Given the description of an element on the screen output the (x, y) to click on. 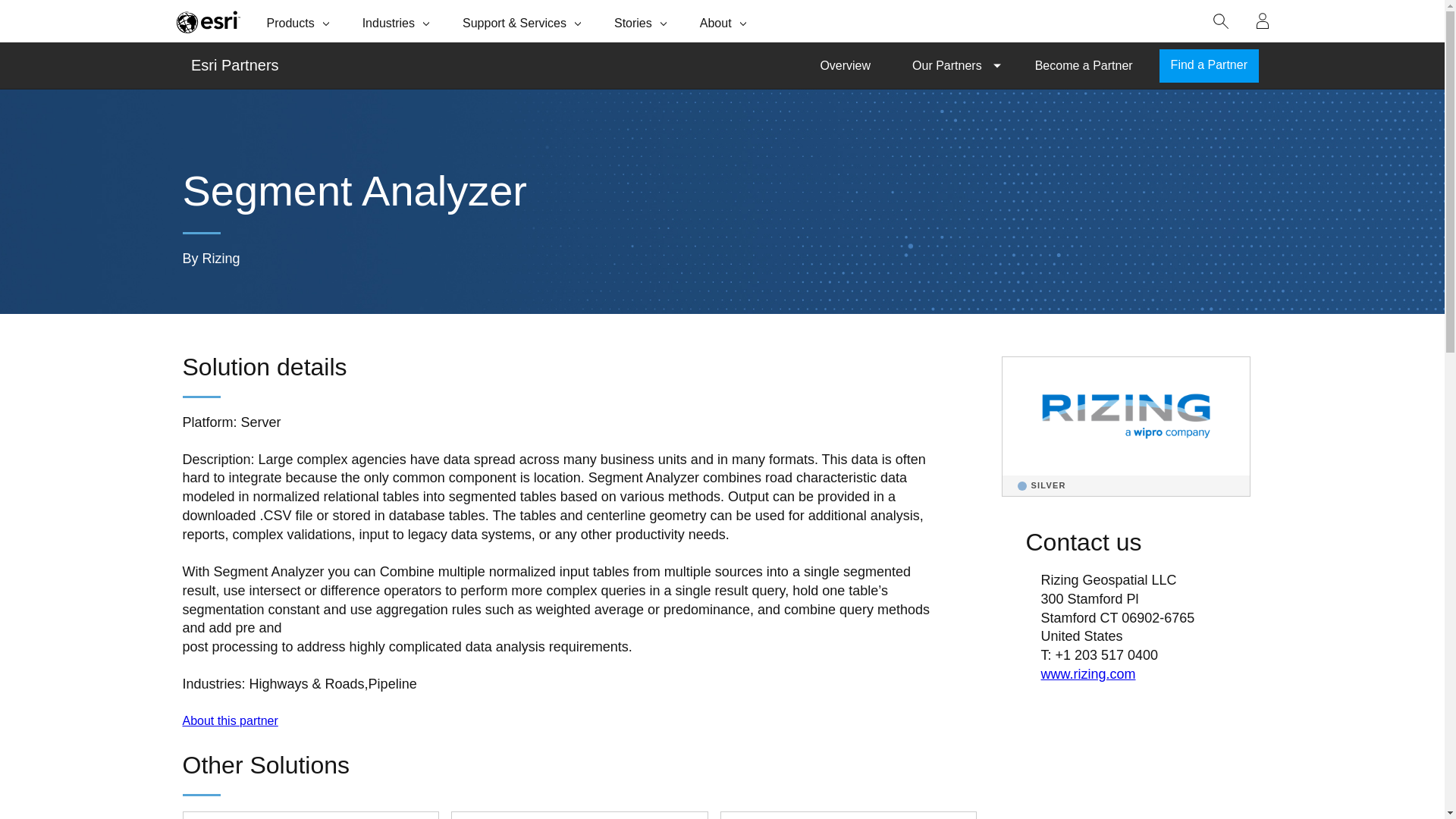
Industries (396, 20)
Sign In (1262, 20)
Esri home page (208, 21)
Products (299, 20)
Esri home page (208, 21)
Search (1220, 20)
Esri home page (208, 21)
